Given the description of an element on the screen output the (x, y) to click on. 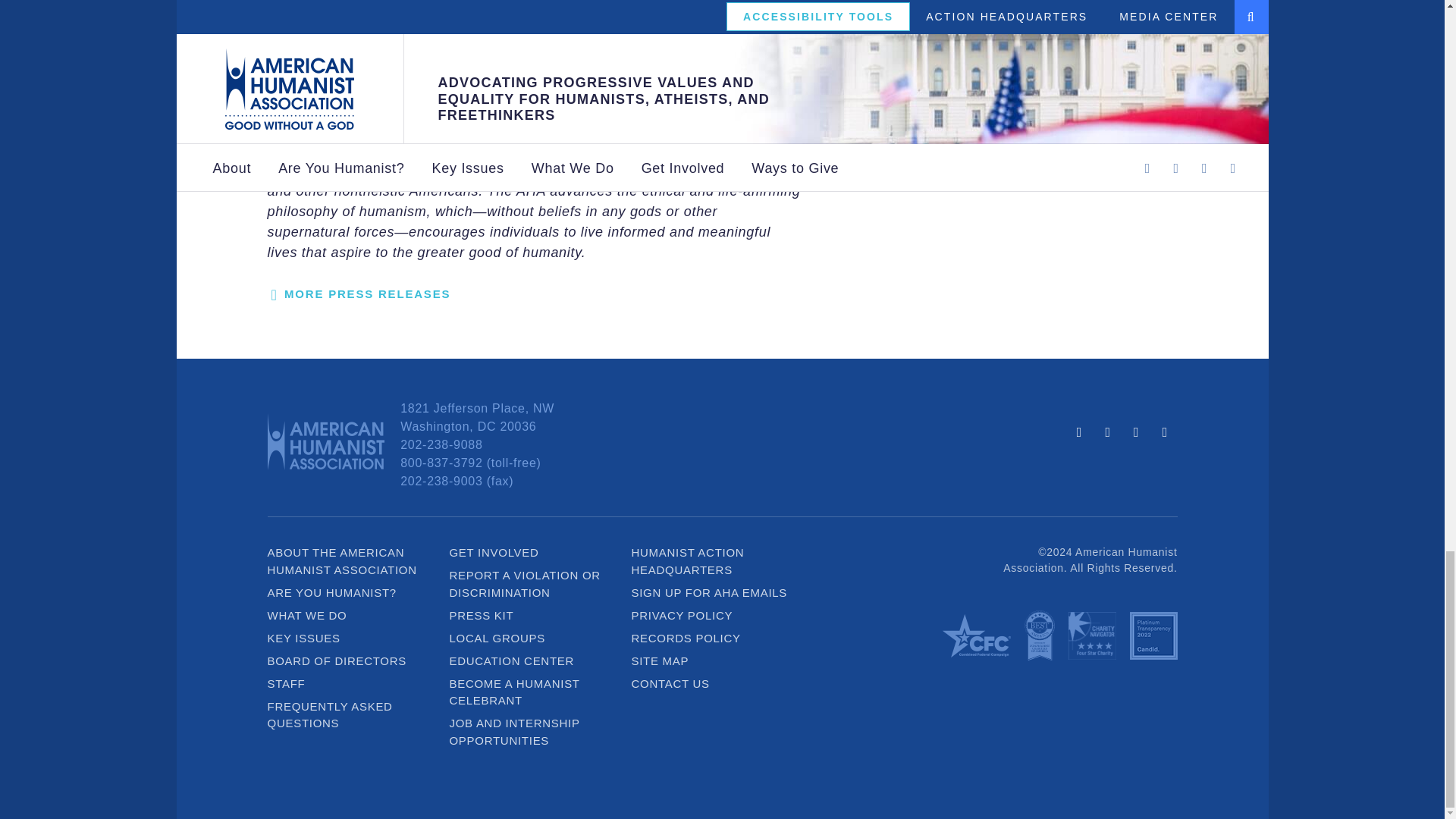
Combined Federal Campaign (976, 638)
AHA on X (1107, 431)
AHA on YouTube (1164, 431)
Charity Navigator (1091, 638)
AHA on Facebook (1079, 431)
Independent Charities of America (1038, 638)
AHA on Instagram (1136, 431)
Go to Home Page (325, 444)
